Given the description of an element on the screen output the (x, y) to click on. 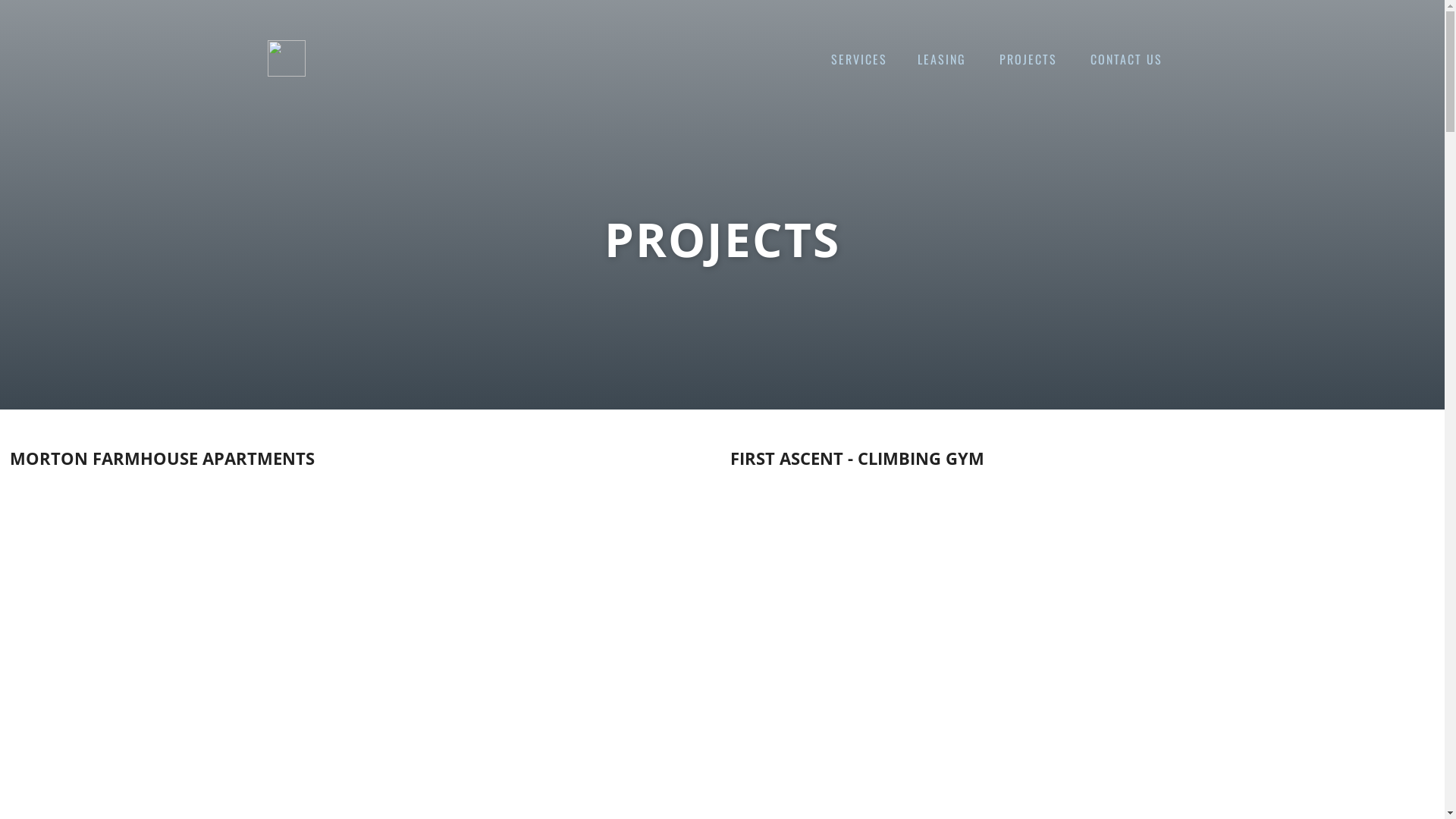
MORTON FARMHOUSE APARTMENTS Element type: text (169, 457)
CONTACT US Element type: text (1126, 59)
SERVICES Element type: text (858, 59)
FIRST ASCENT - CLIMBING GYM Element type: text (863, 457)
